Given the description of an element on the screen output the (x, y) to click on. 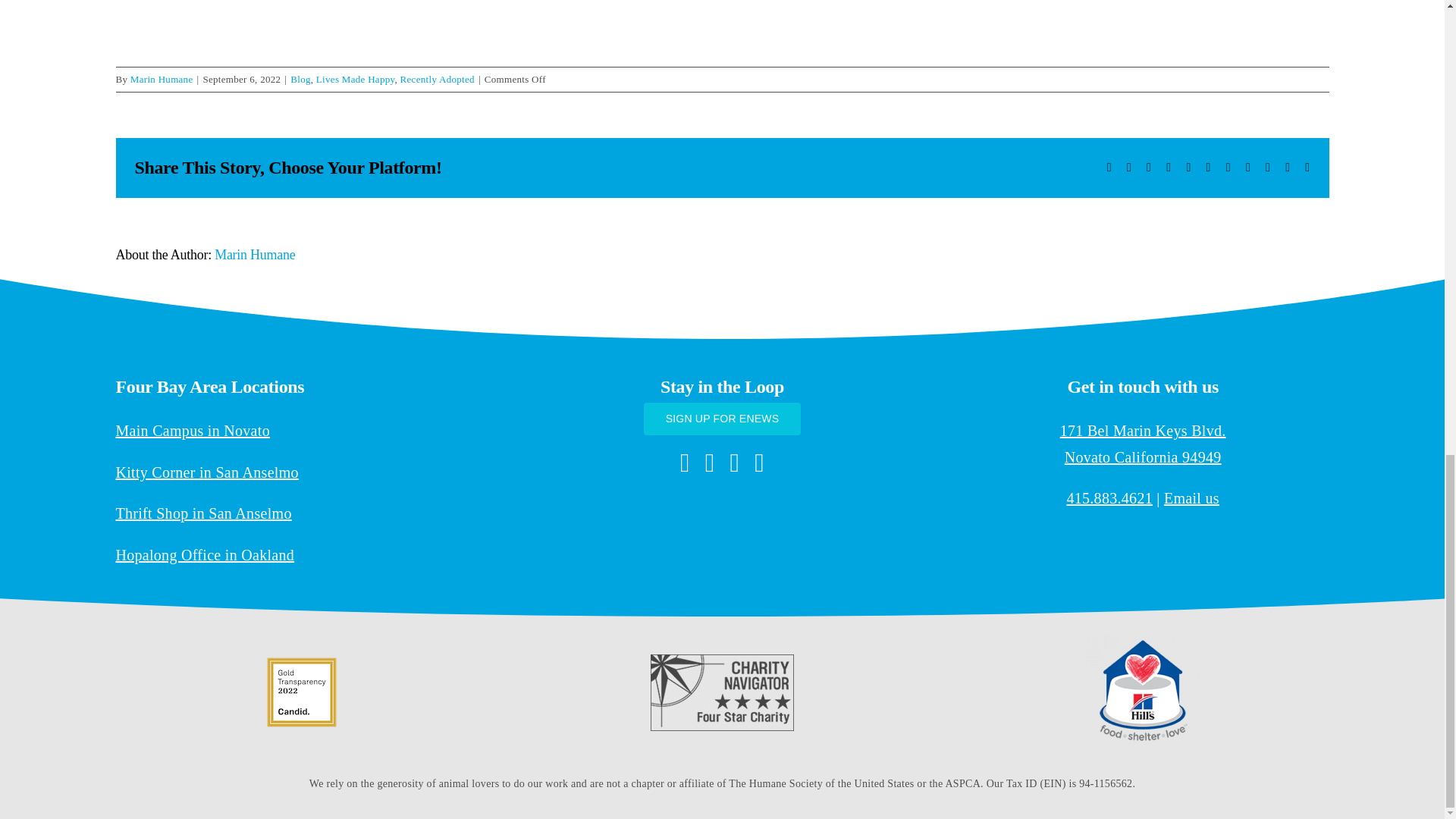
Adoption Slideshow Week of Aug. 29 - Sept. 4, 2022 (721, 12)
Posts by Marin Humane (162, 79)
